Given the description of an element on the screen output the (x, y) to click on. 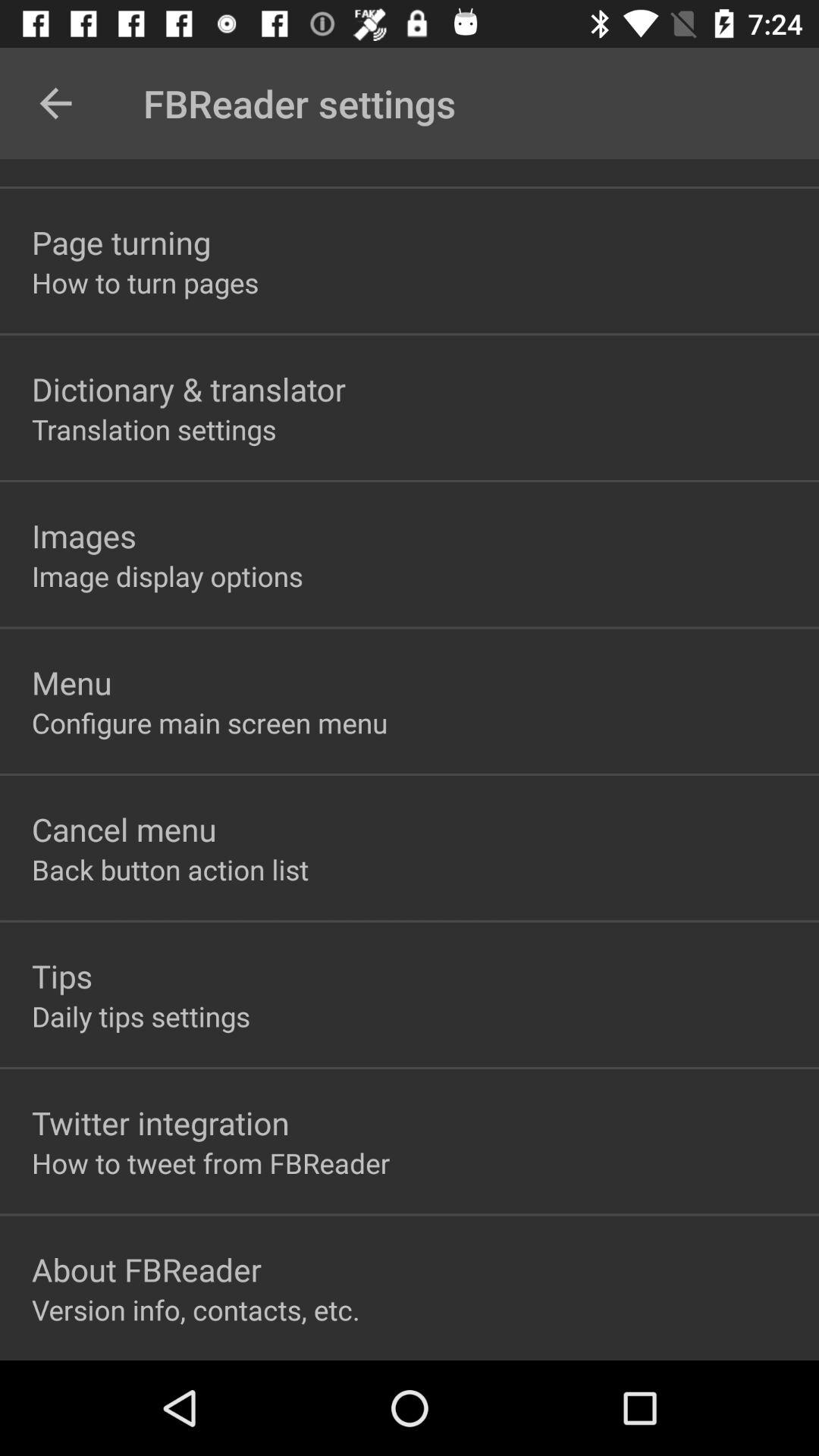
click the item below the daily tips settings icon (160, 1122)
